Given the description of an element on the screen output the (x, y) to click on. 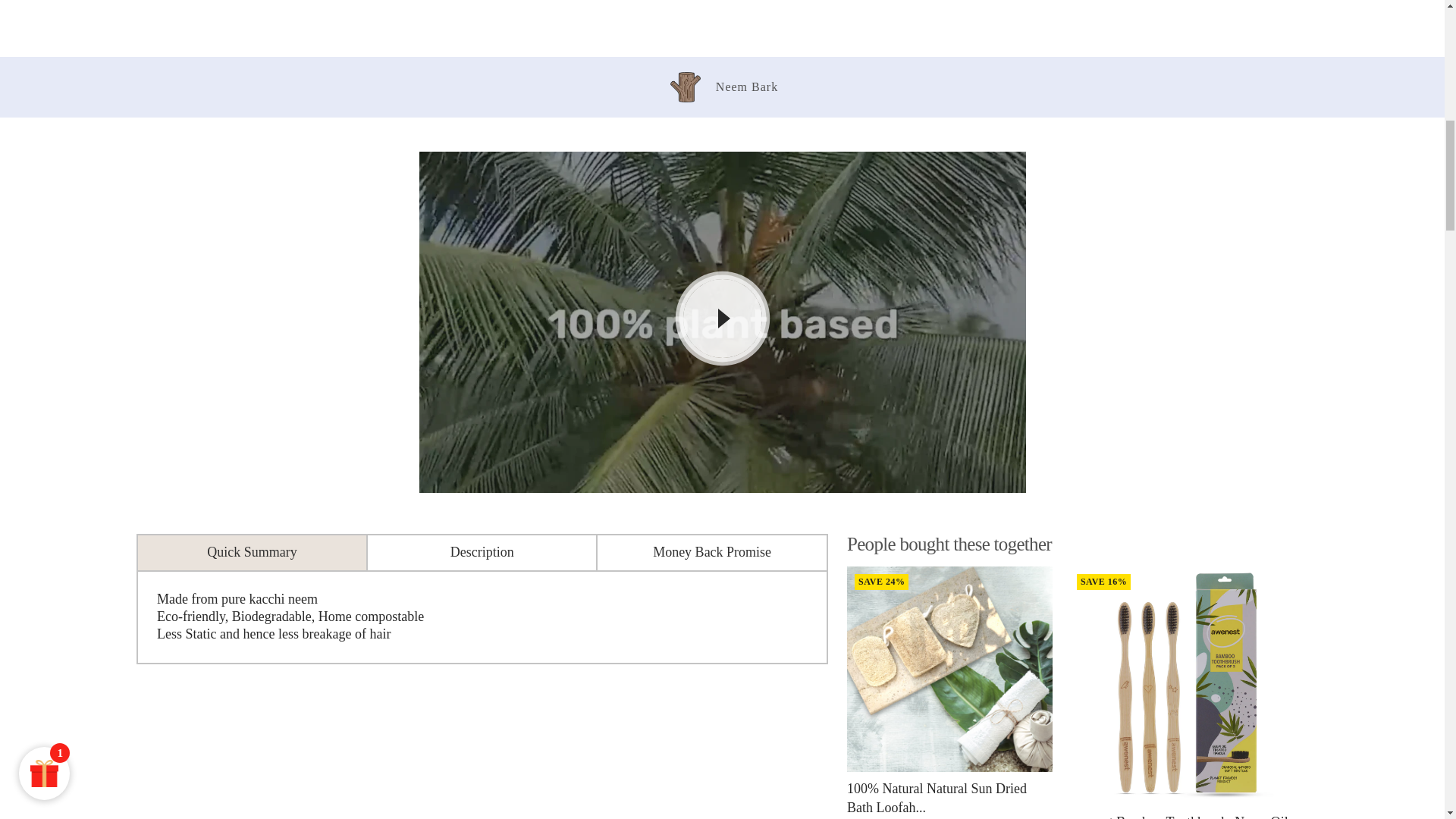
Neem Bark (721, 86)
Play video (721, 318)
